Given the description of an element on the screen output the (x, y) to click on. 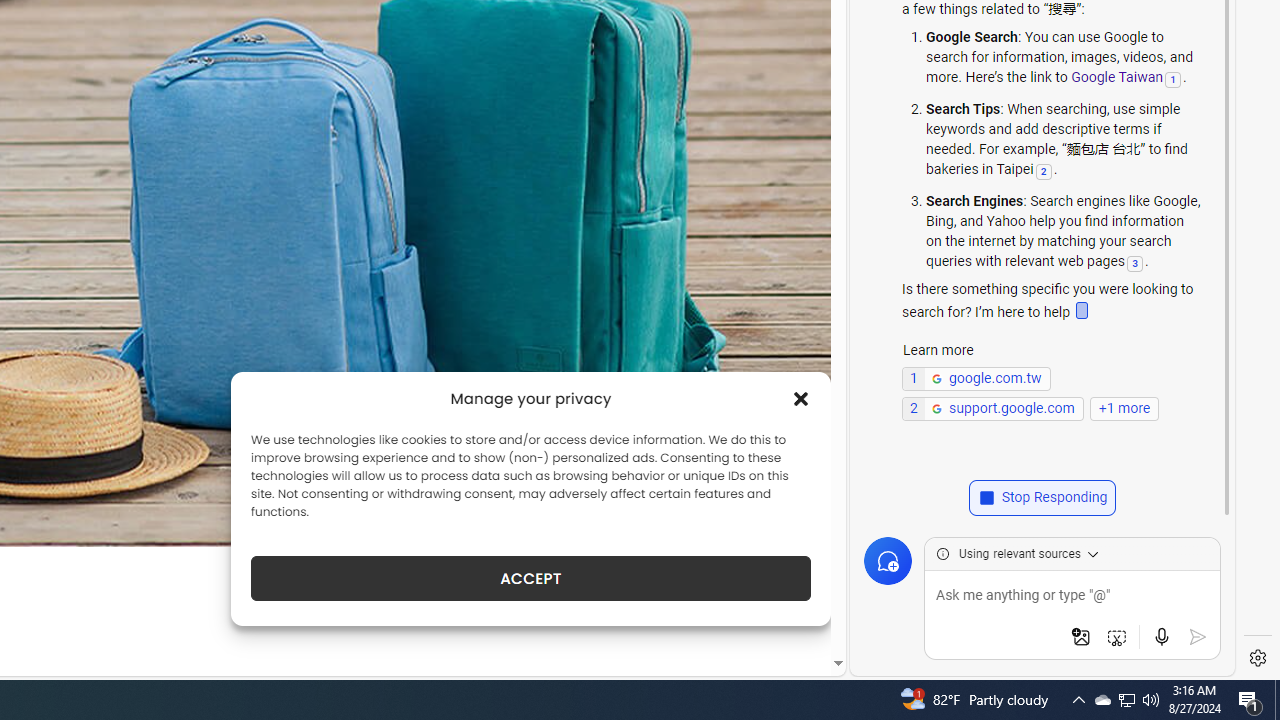
Class: cmplz-close (801, 398)
ACCEPT (530, 578)
